Given the description of an element on the screen output the (x, y) to click on. 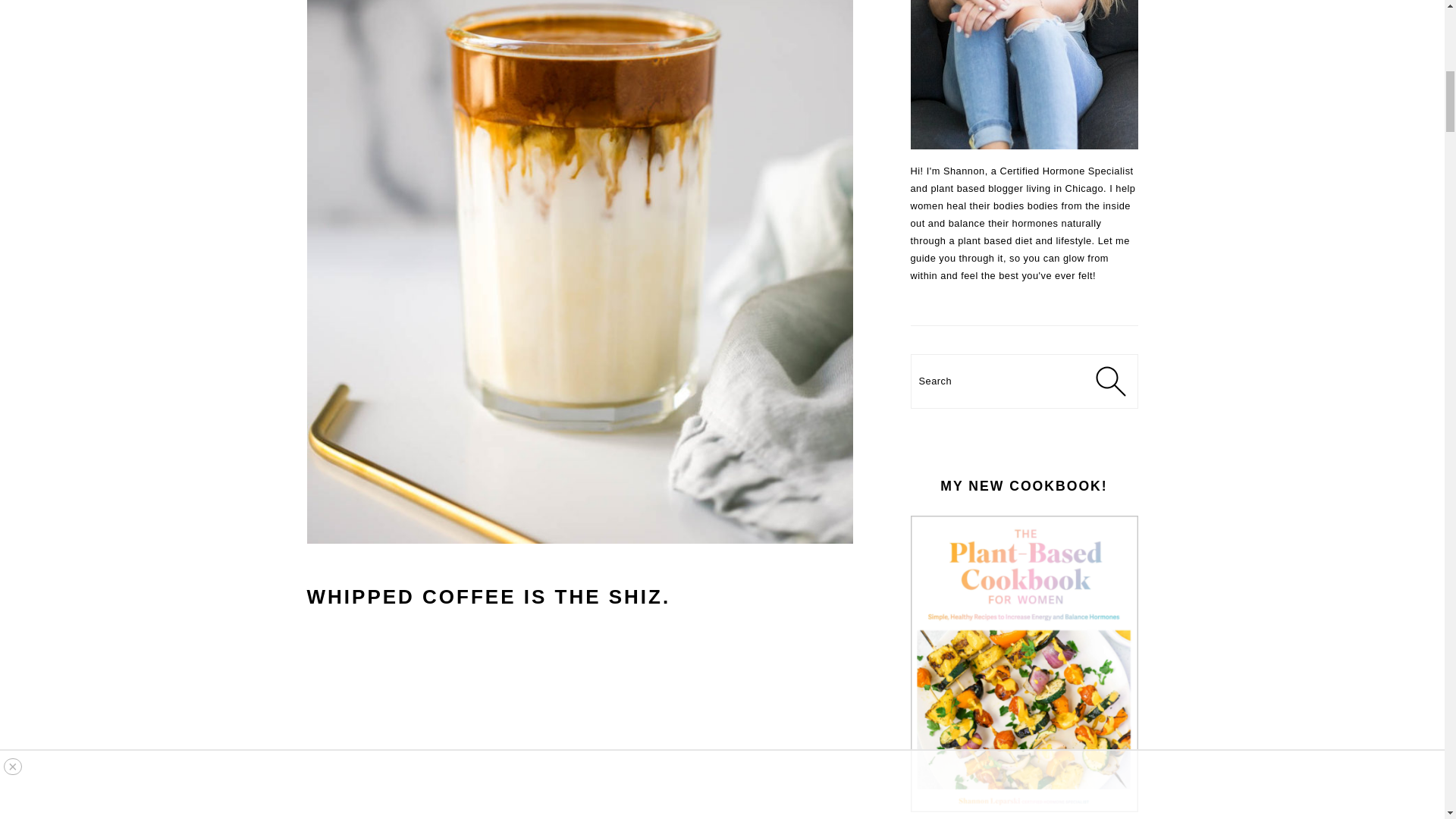
SHANNON Leparski (1023, 74)
